Given the description of an element on the screen output the (x, y) to click on. 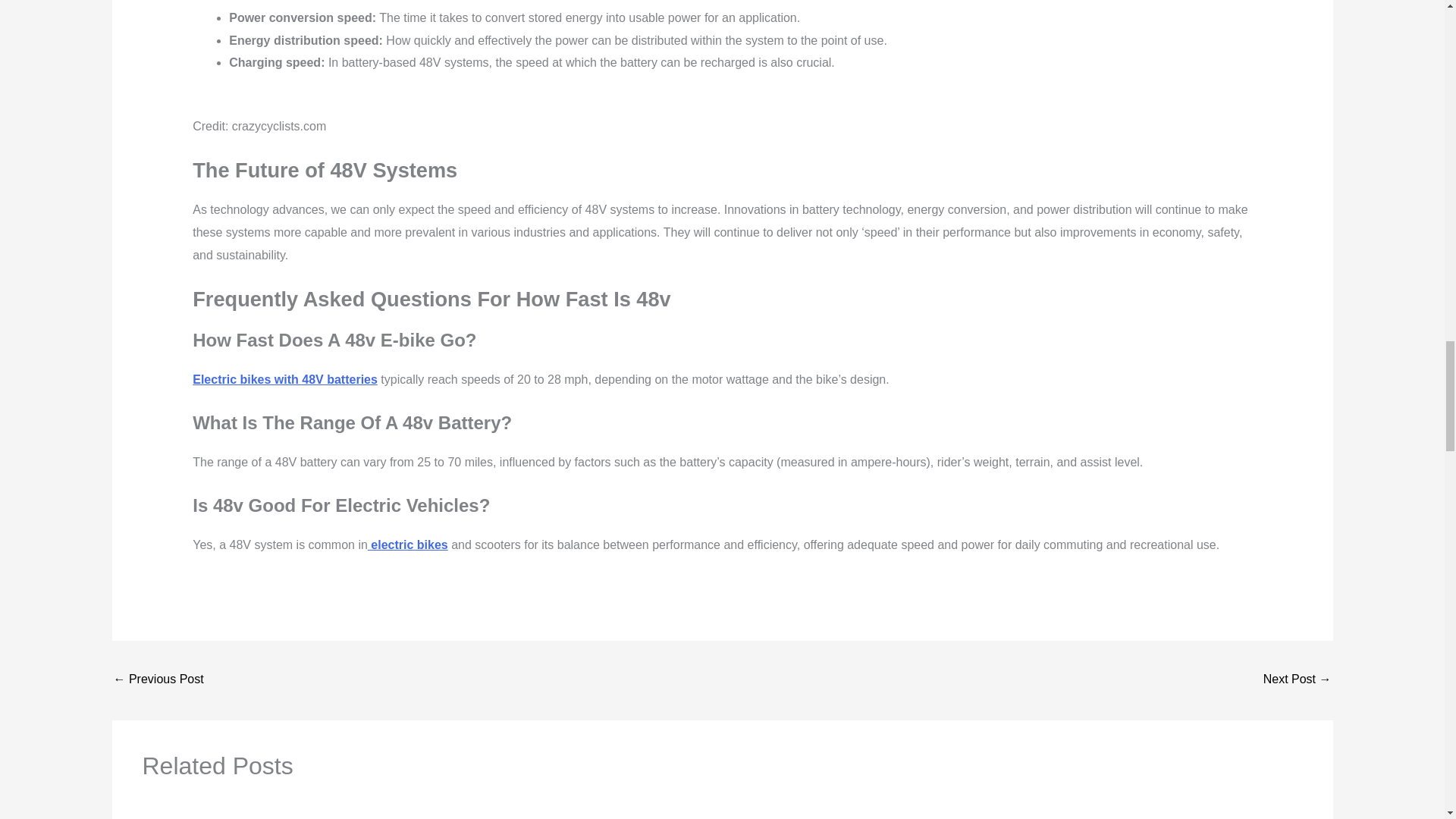
Electric bikes with 48V batteries (284, 379)
Are E-Bikes Allowed on Mackinac Island (158, 679)
electric bikes (408, 544)
